Given the description of an element on the screen output the (x, y) to click on. 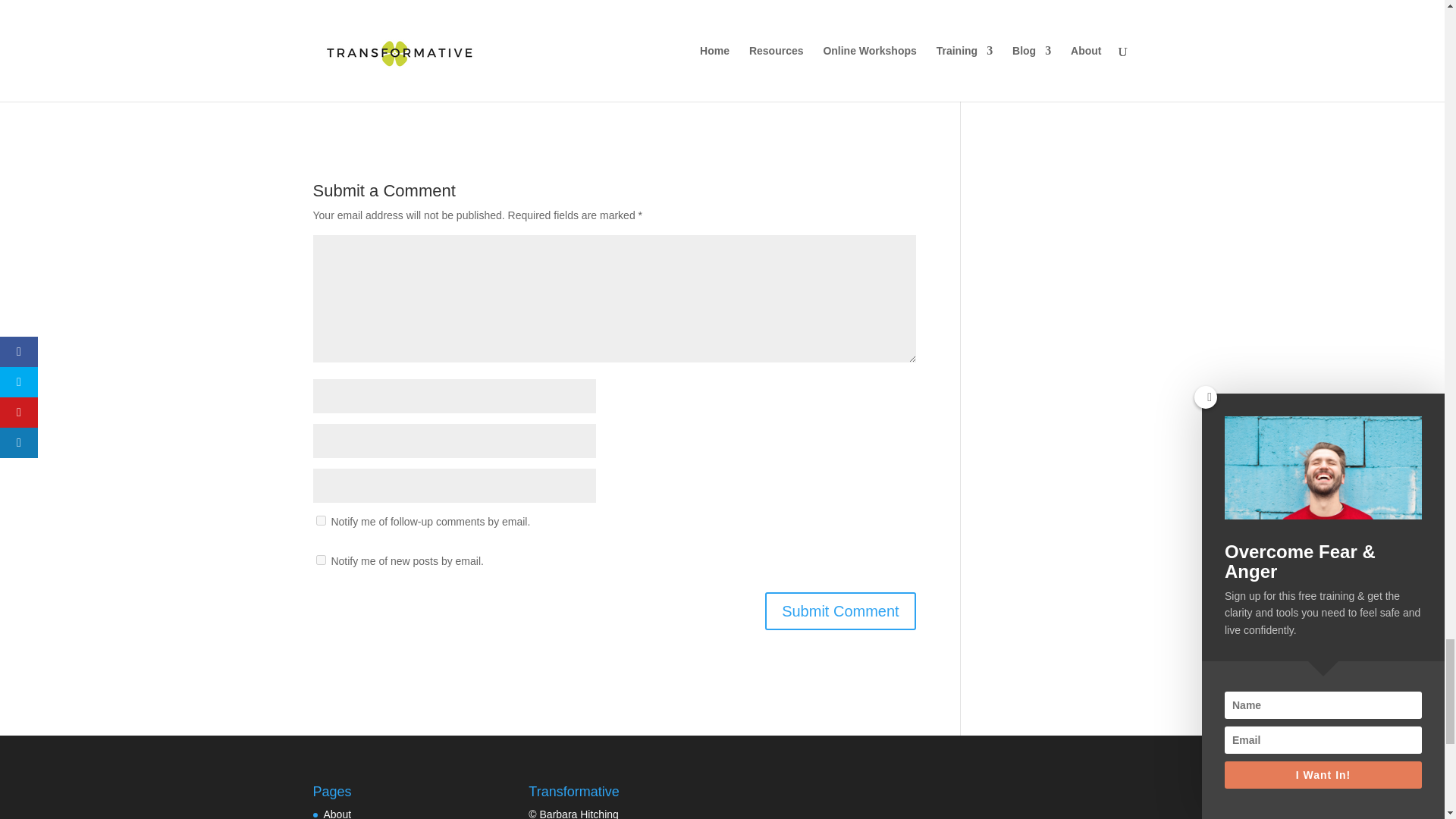
subscribe (319, 560)
Just Breathe: Keys to Regulate Reactive Behavior (406, 3)
Submit Comment (840, 610)
subscribe (319, 520)
Just Breathe: Keys to Regulate Reactive Behavior (385, 22)
